Given the description of an element on the screen output the (x, y) to click on. 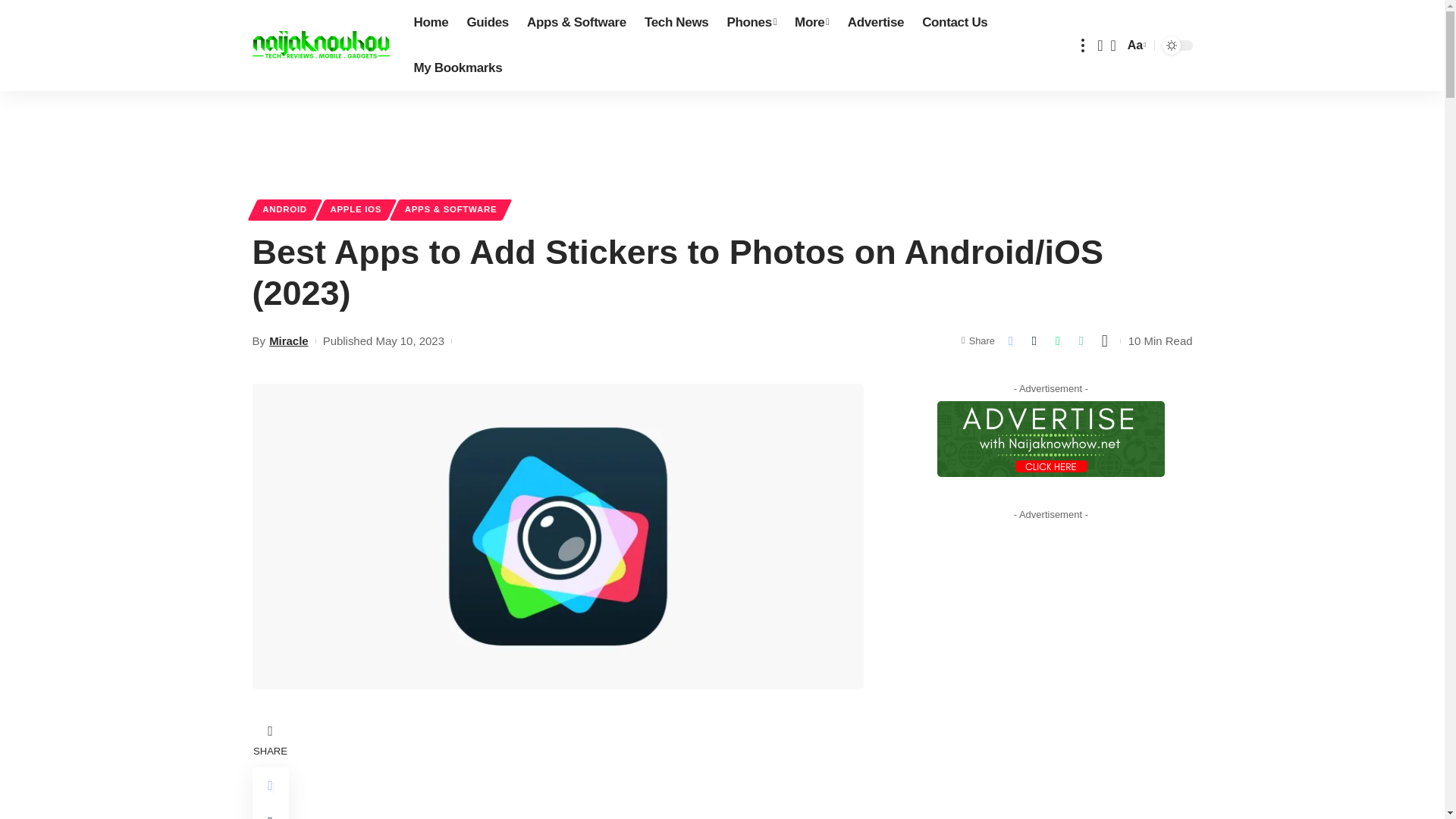
Tech News (675, 22)
Phones (751, 22)
Naijaknowhow (319, 44)
Guides (487, 22)
Advertisement (722, 136)
Advertisement (587, 769)
More (812, 22)
Home (431, 22)
